Given the description of an element on the screen output the (x, y) to click on. 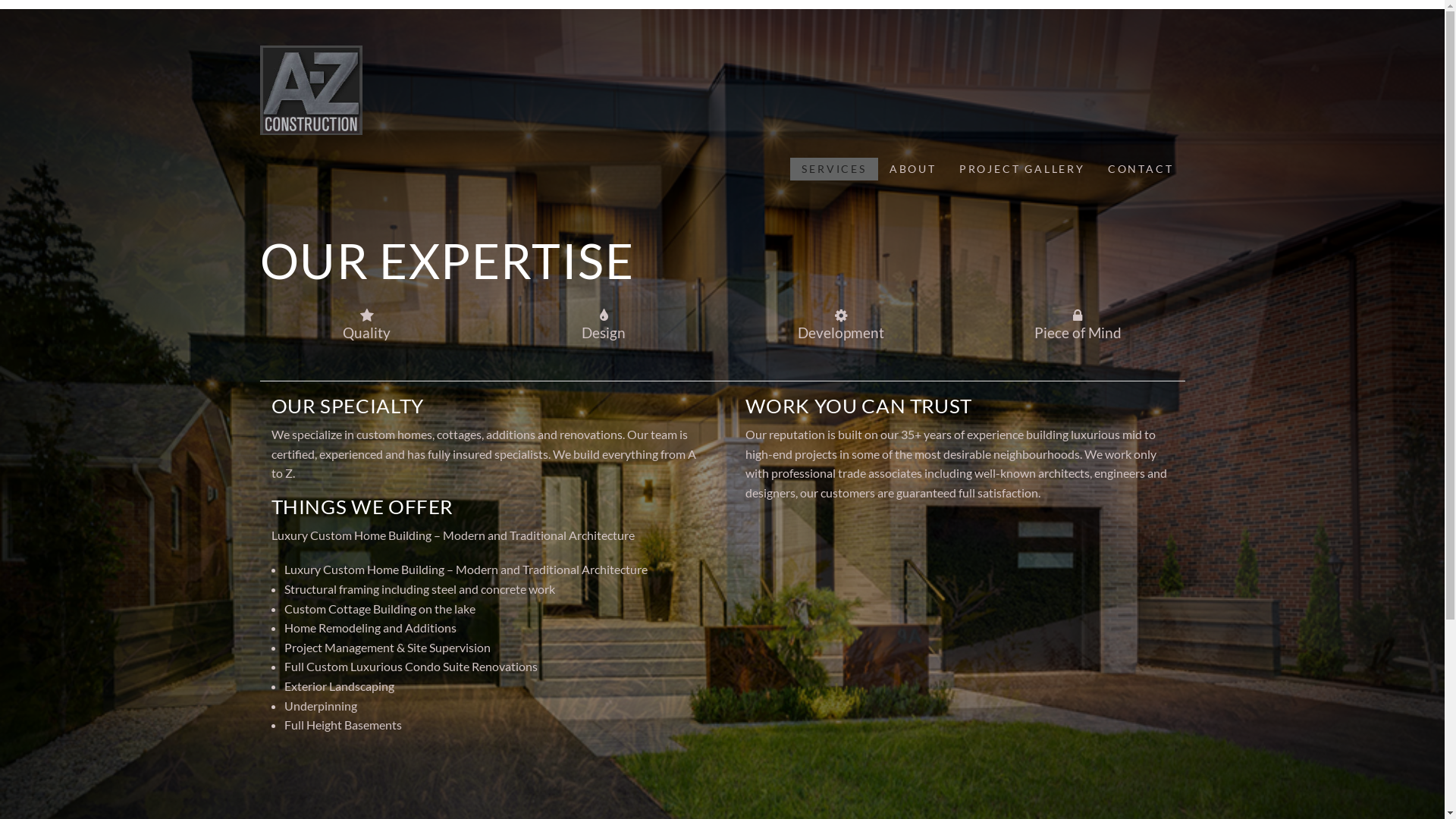
ABOUT Element type: text (912, 168)
PROJECT GALLERY Element type: text (1021, 168)
SERVICES Element type: text (833, 168)
CONTACT Element type: text (1140, 168)
